Given the description of an element on the screen output the (x, y) to click on. 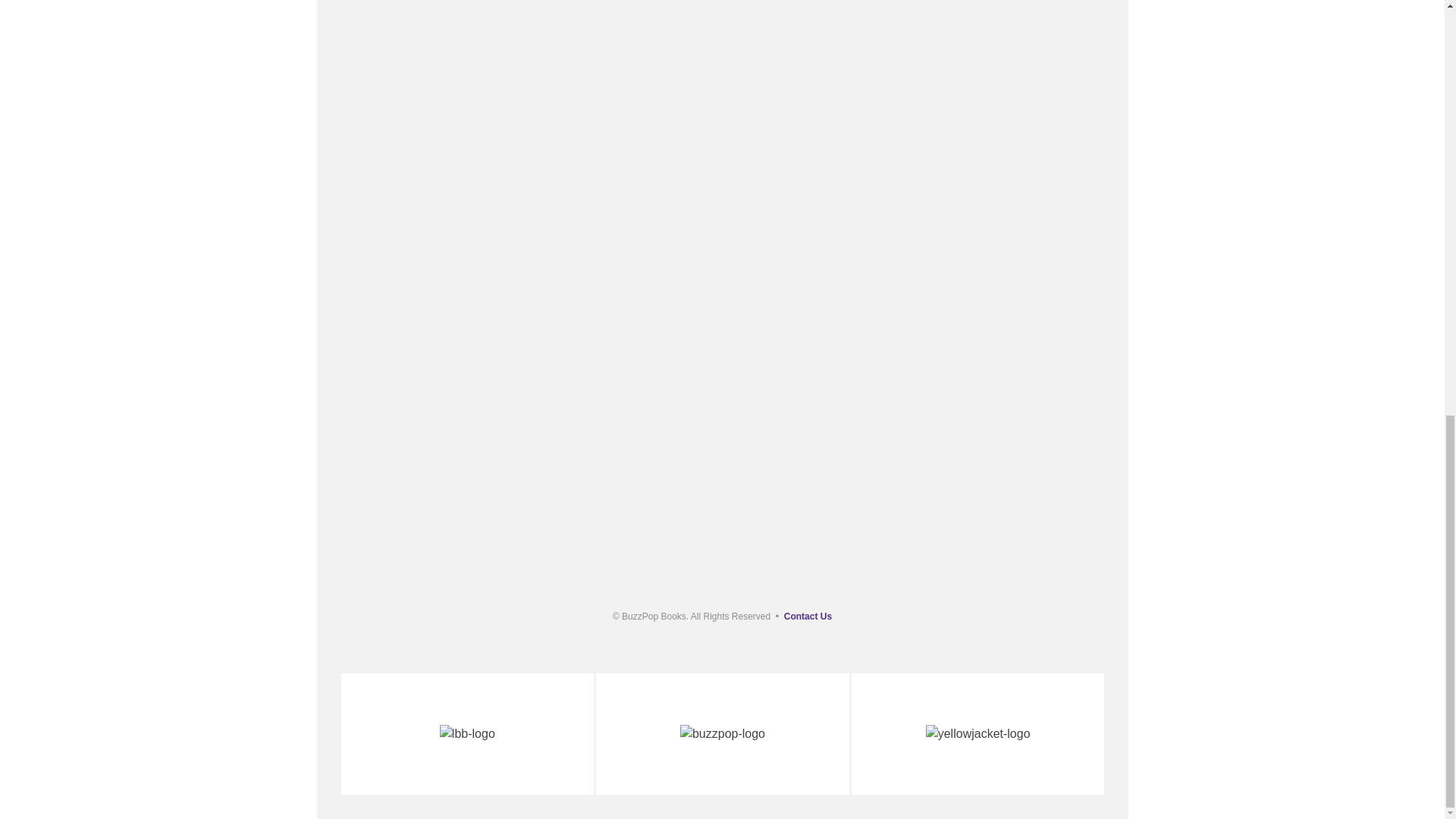
buzzpop-logo (722, 733)
lbb-logo (467, 733)
yellowjacket-logo (978, 733)
Contact Us (807, 615)
